Given the description of an element on the screen output the (x, y) to click on. 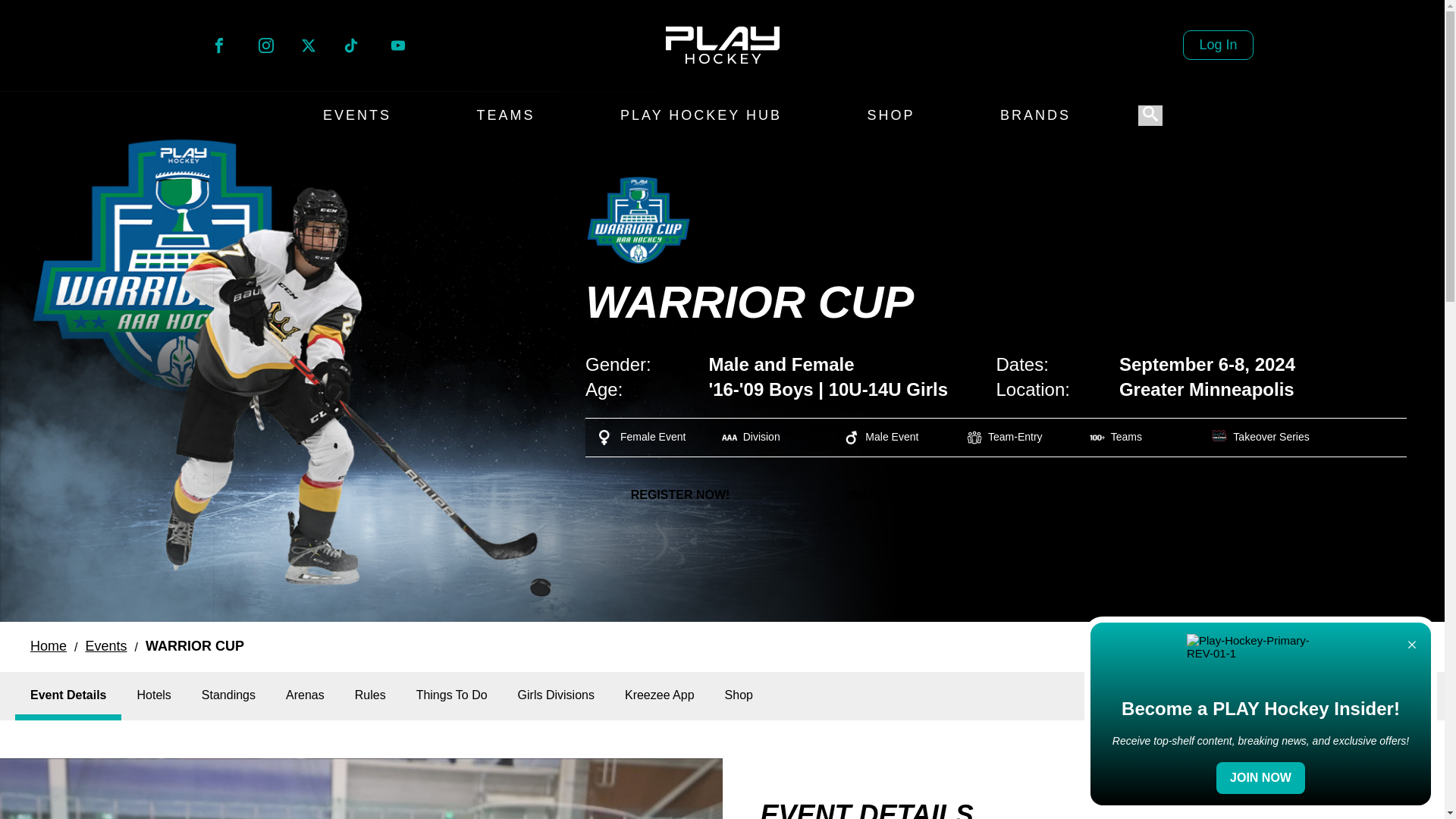
instagram (265, 45)
SHOP (890, 115)
Events (105, 646)
Girls Divisions (556, 695)
BRANDS (1034, 115)
Popup CTA (1260, 713)
Toggle Search (1149, 115)
EVENTS (265, 48)
Rules (357, 115)
Home (218, 48)
PLAY HOCKEY HUB (370, 695)
TEAMS (48, 646)
Hotels (700, 115)
